Given the description of an element on the screen output the (x, y) to click on. 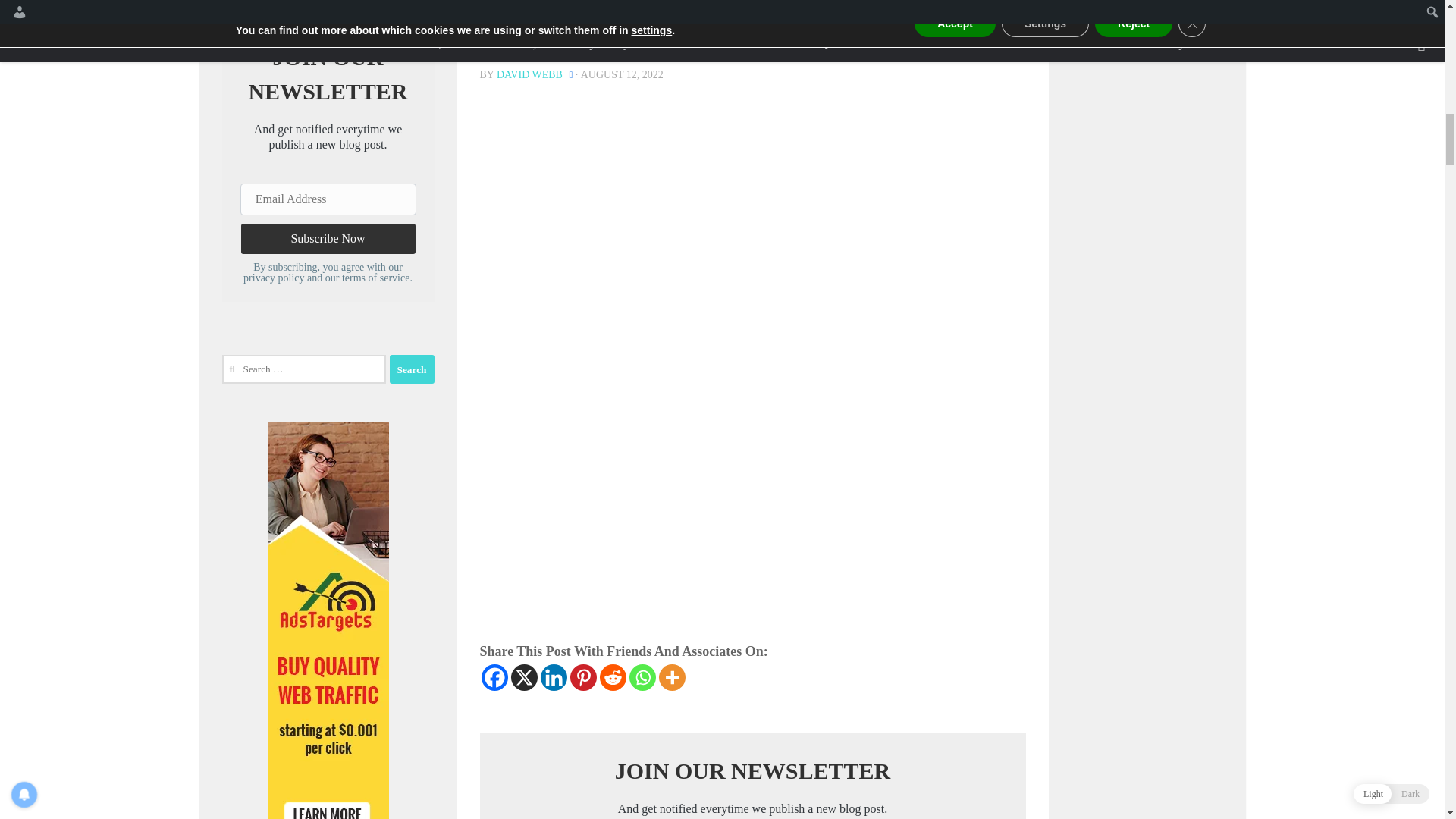
Search (411, 369)
Pinterest (583, 677)
Search (411, 369)
Facebook (493, 677)
Search (1200, 15)
Search (1200, 15)
Posts by David Webb (529, 74)
Linkedin (553, 677)
Subscribe Now (327, 238)
X (524, 677)
